Given the description of an element on the screen output the (x, y) to click on. 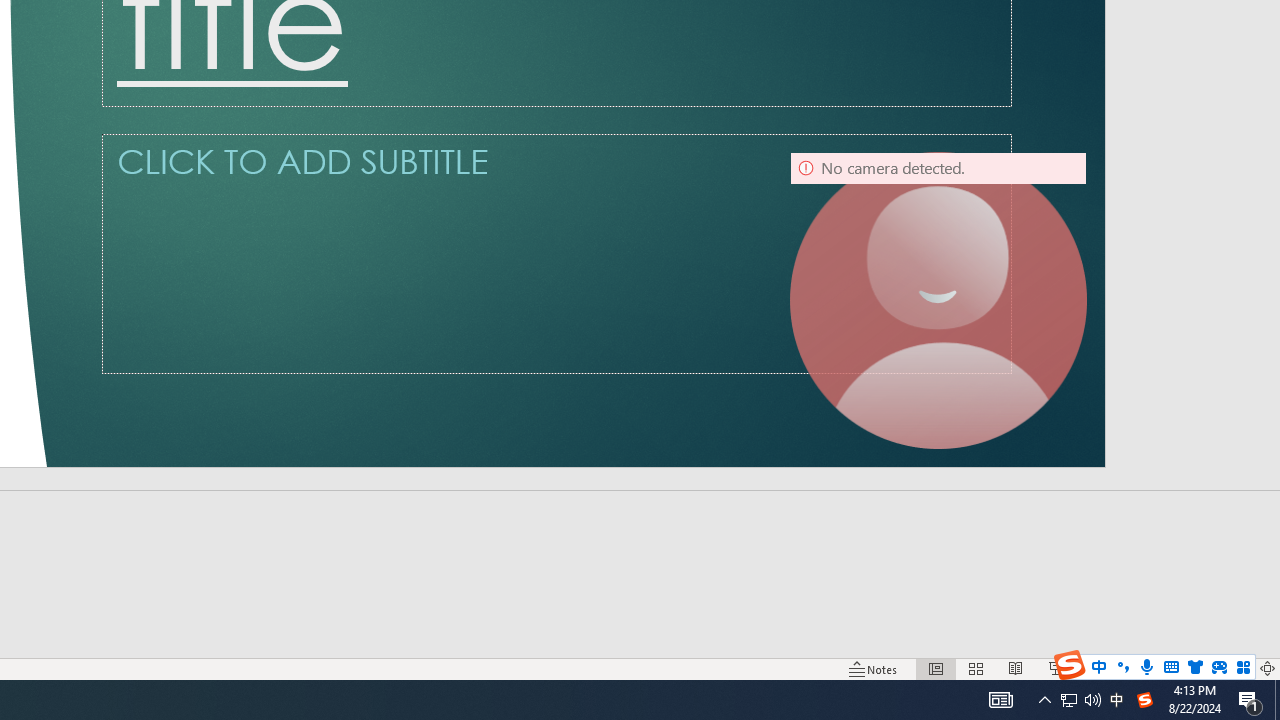
Zoom 140% (1234, 668)
